Given the description of an element on the screen output the (x, y) to click on. 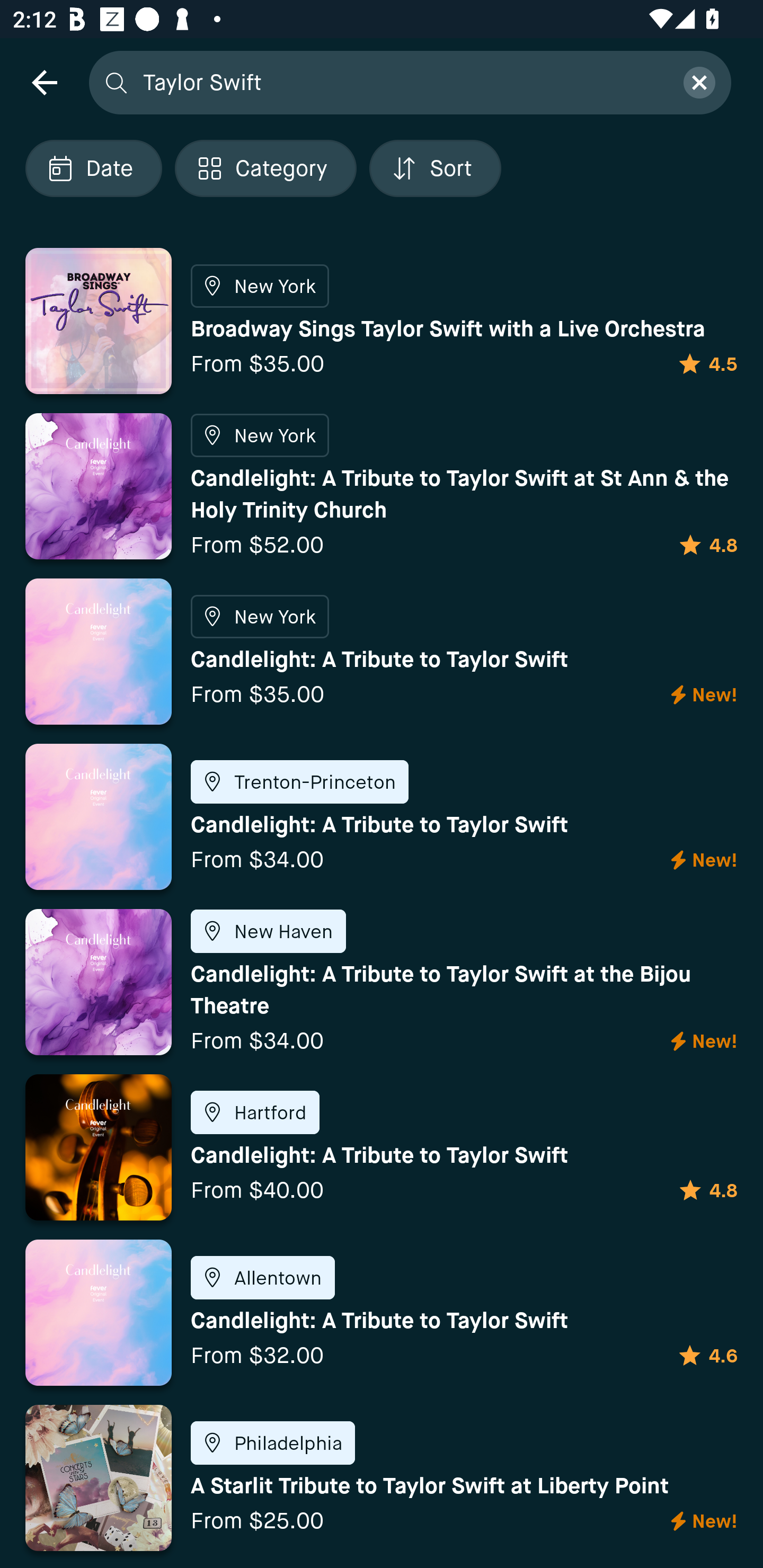
navigation icon (44, 81)
Taylor Swift (402, 81)
Localized description Date (93, 168)
Localized description Category (265, 168)
Localized description Sort (435, 168)
